Given the description of an element on the screen output the (x, y) to click on. 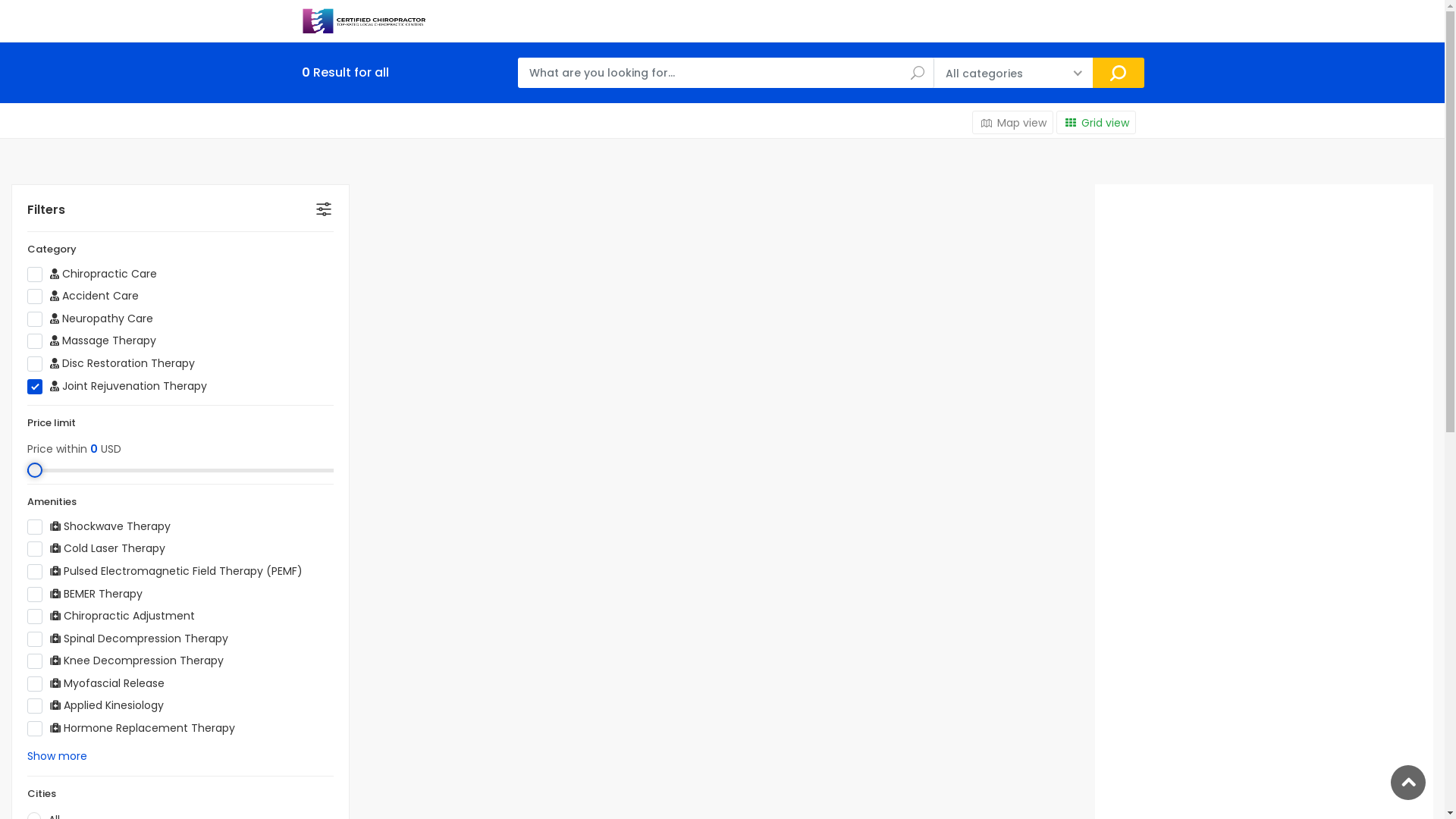
myofascial-release Element type: text (169, 681)
chiropractic-adjustment Element type: text (199, 613)
accident-care Element type: text (143, 293)
Search Element type: text (1118, 72)
shockwave-therapy Element type: text (175, 524)
Map view Element type: text (1012, 122)
hormone-replacement-therapy Element type: text (239, 726)
neuropathy-care Element type: text (158, 316)
pulsed-electromagnetic-field-therapy-pemf Element type: text (307, 569)
knee-decompression-therapy Element type: text (228, 658)
joint-rejuvenation-therapy Element type: text (211, 384)
bemer-therapy Element type: text (147, 591)
chiropractic-care Element type: text (161, 271)
spinal-decompression-therapy Element type: text (233, 636)
disc-restoration-therapy Element type: text (199, 361)
cold-laser-therapy Element type: text (170, 546)
Show more Element type: text (57, 755)
massage-therapy Element type: text (161, 338)
applied-kinesiology Element type: text (168, 703)
Filters Element type: text (180, 209)
Grid view Element type: text (1096, 122)
